Given the description of an element on the screen output the (x, y) to click on. 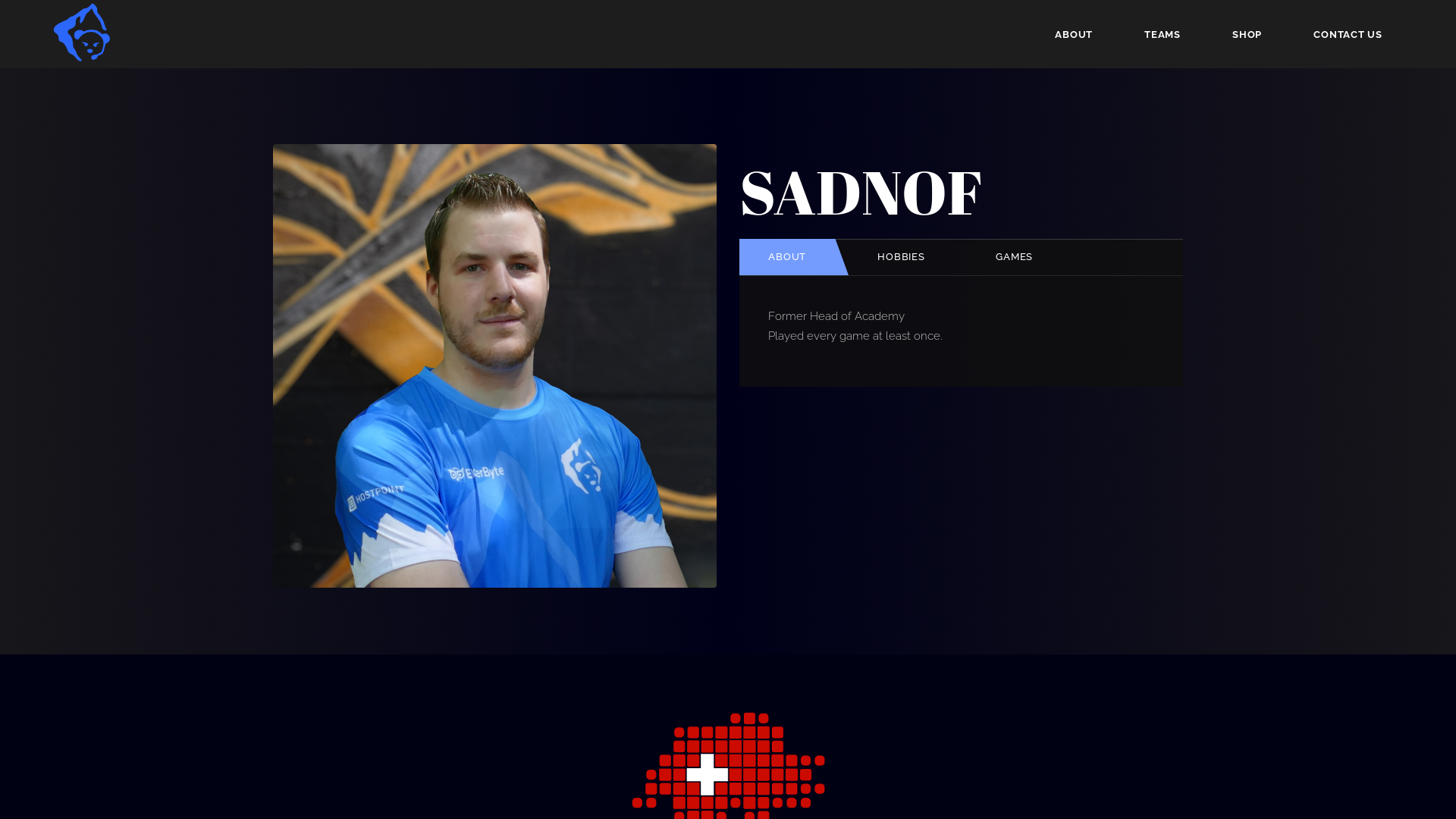
HOBBIES Element type: text (900, 256)
TEAMS Element type: text (1162, 34)
CONTACT US Element type: text (1347, 34)
ABOUT Element type: text (1073, 34)
SHOP Element type: text (1246, 34)
ABOUT Element type: text (786, 256)
Sadnof 2021 Element type: hover (494, 365)
GAMES Element type: text (1014, 256)
